Given the description of an element on the screen output the (x, y) to click on. 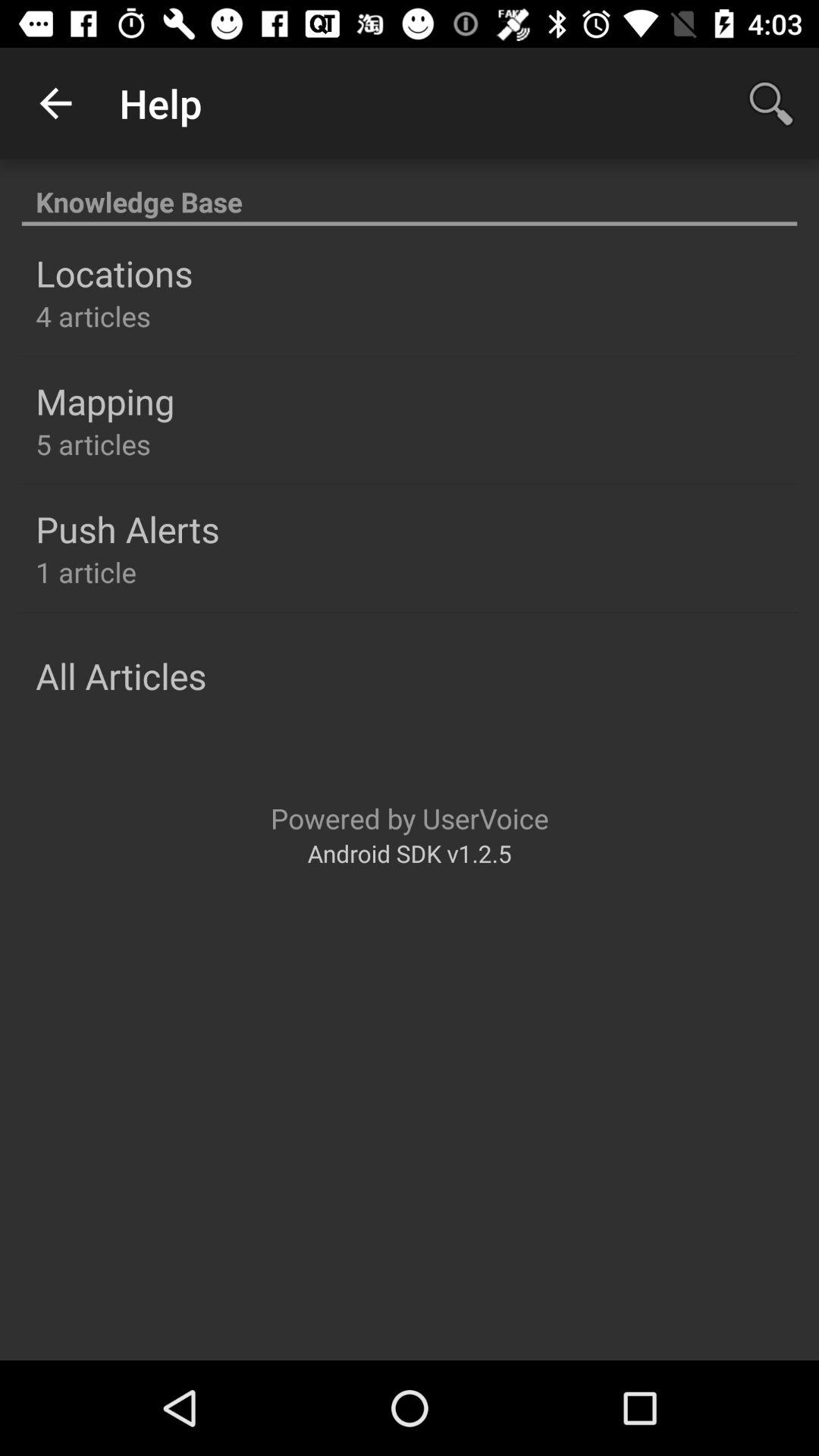
choose icon above the powered by uservoice icon (120, 675)
